Given the description of an element on the screen output the (x, y) to click on. 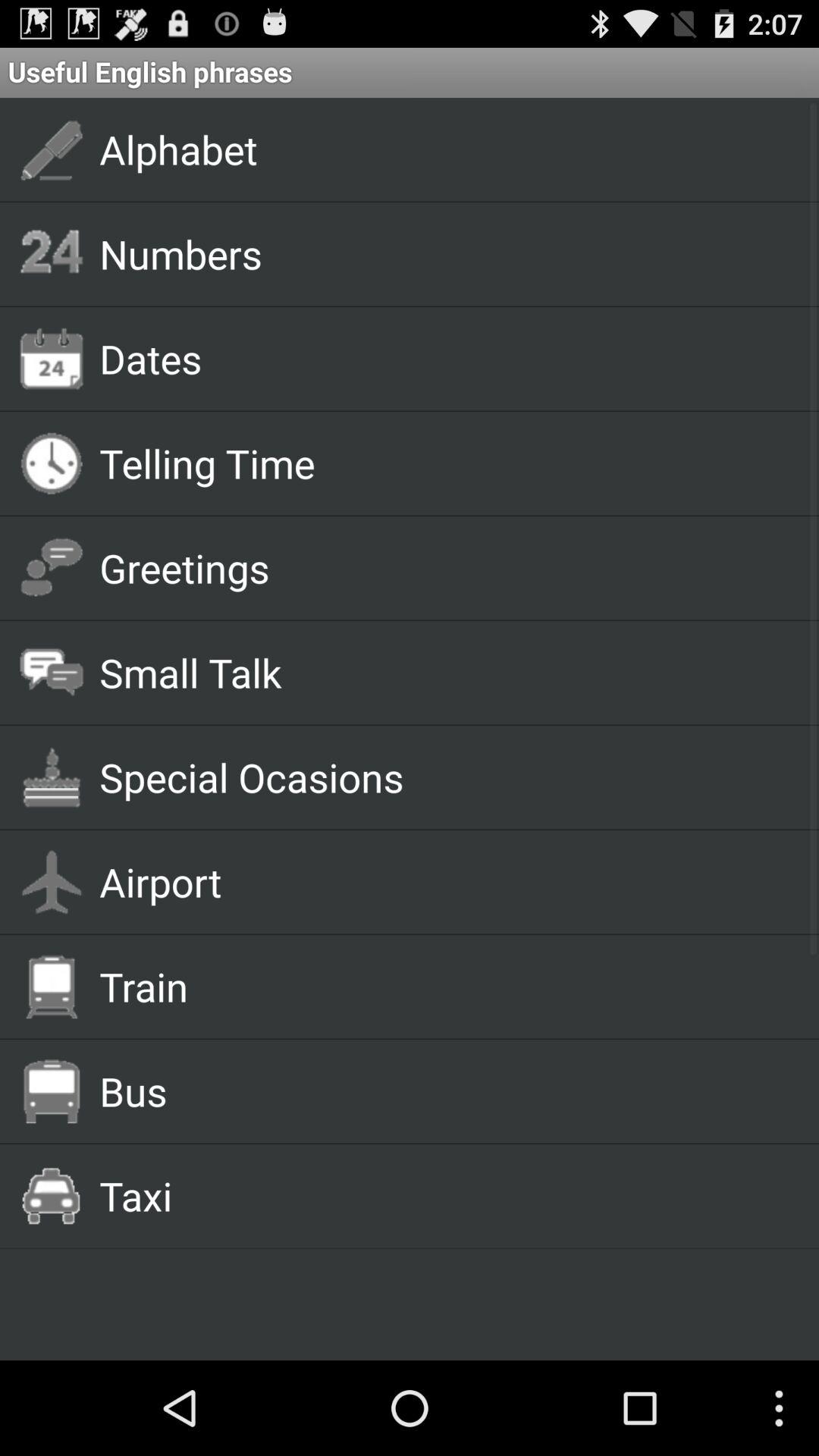
press bus app (441, 1090)
